Given the description of an element on the screen output the (x, y) to click on. 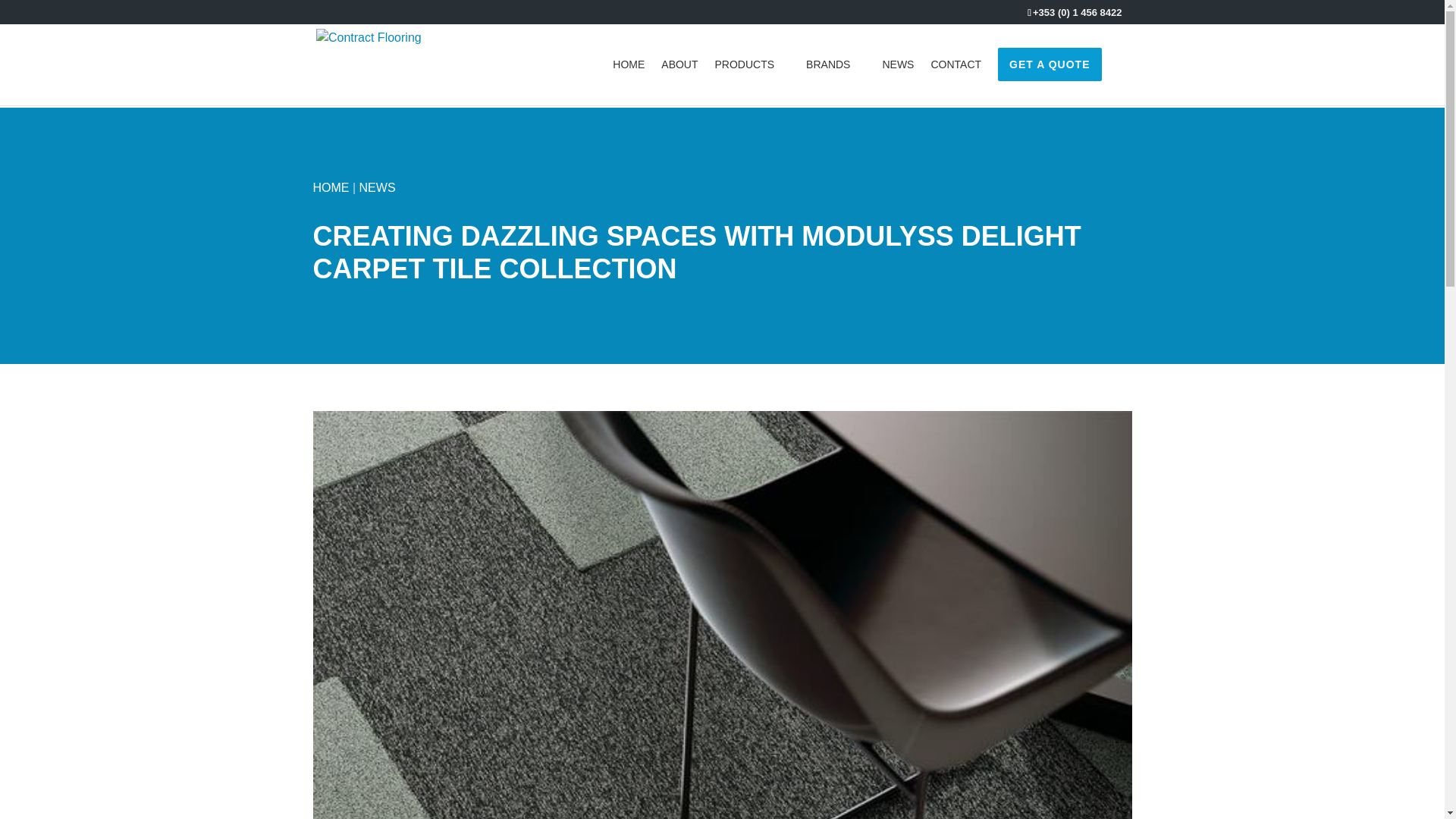
BRANDS (835, 78)
PRODUCTS (752, 78)
GET A QUOTE (1048, 64)
CONTACT (955, 78)
